Given the description of an element on the screen output the (x, y) to click on. 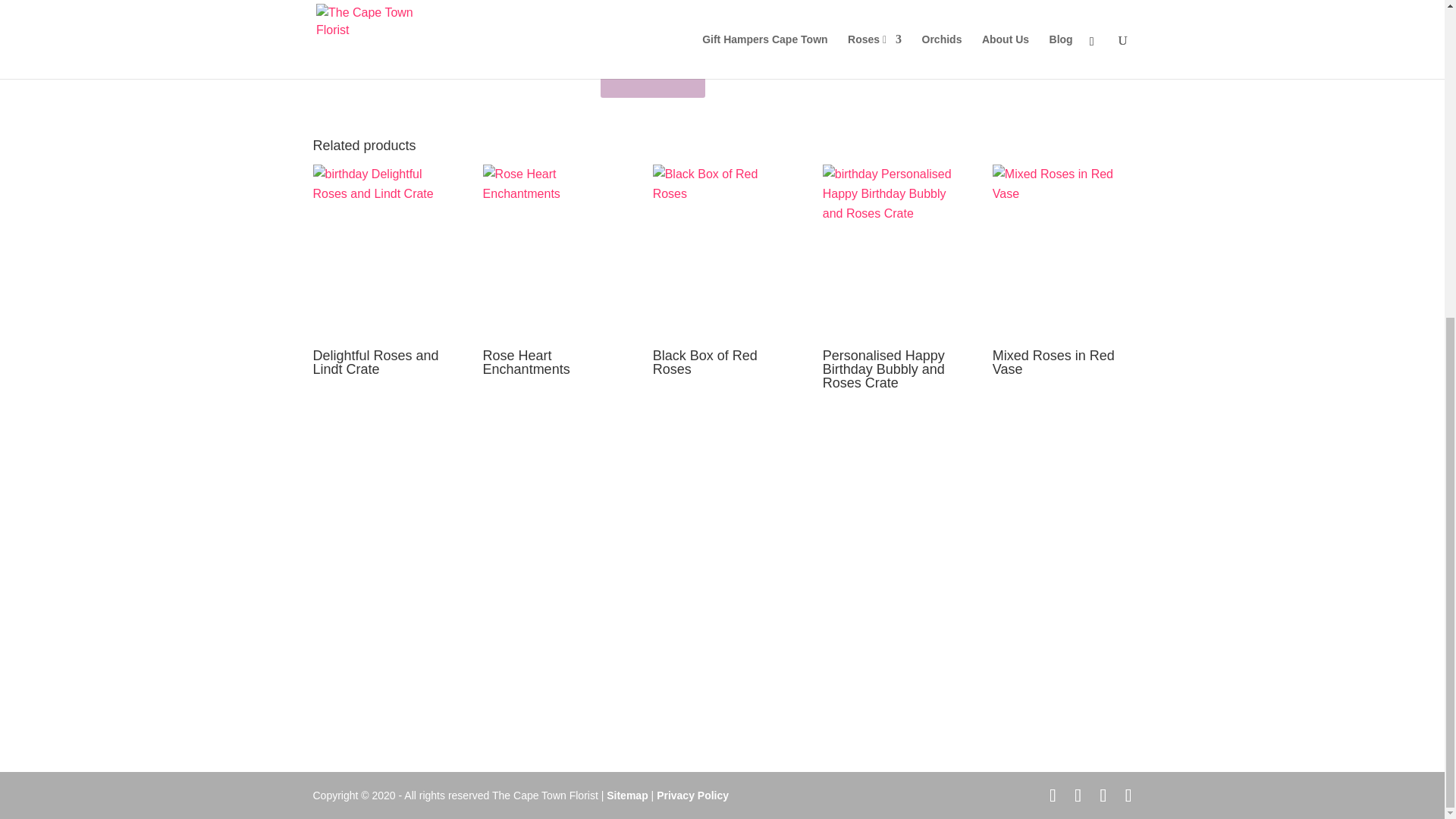
Hospital Flower Deliveries (369, 614)
Blog (322, 718)
About Us (332, 689)
Customer Care (345, 659)
Wedding Flowers Cape Town (377, 600)
View Price (651, 73)
Corporate Flowers (353, 644)
Related Links (342, 674)
